Given the description of an element on the screen output the (x, y) to click on. 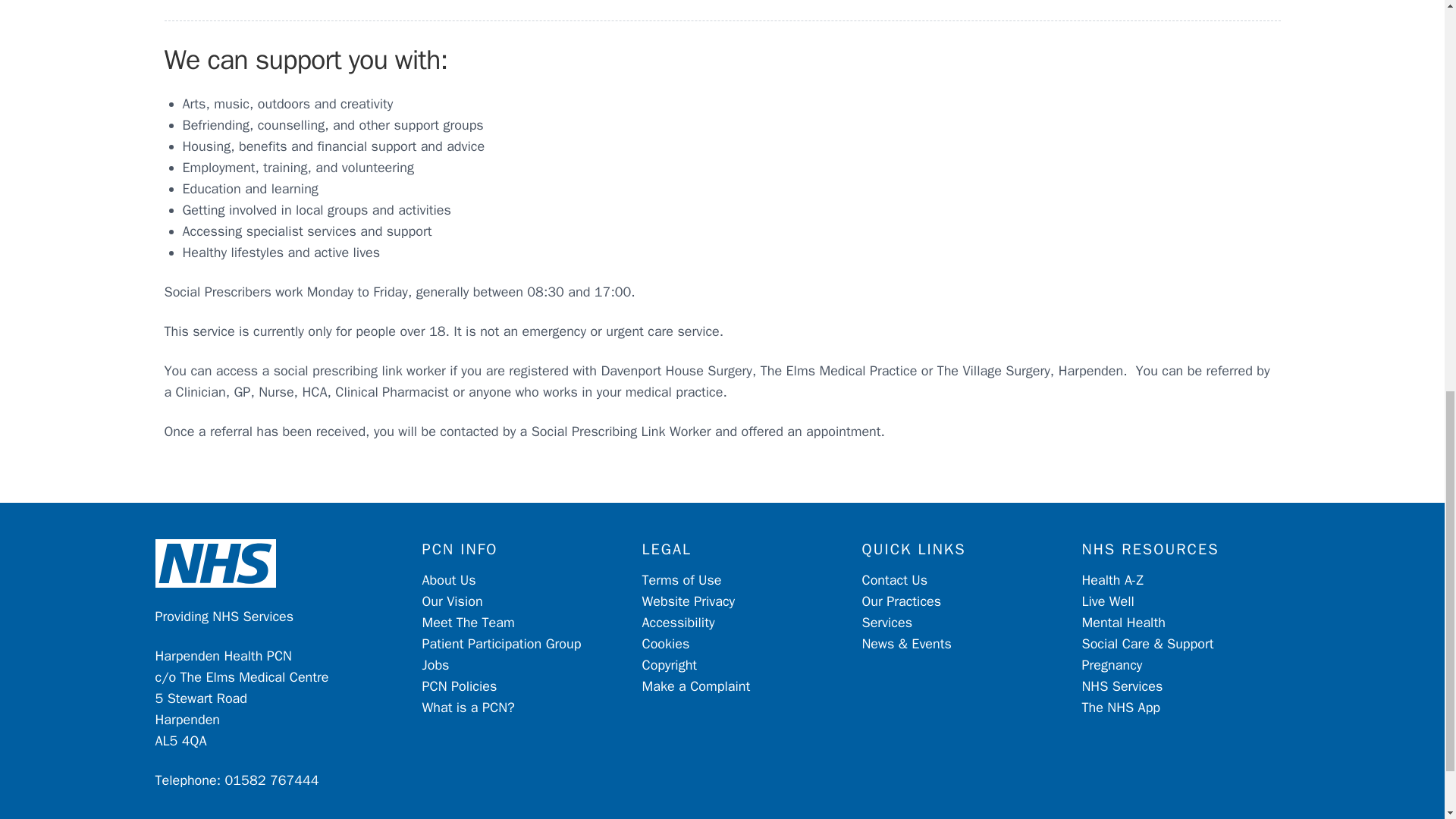
Health A-Z (1111, 579)
Pregnancy (1111, 664)
Our Practices (900, 600)
Mental Health (1122, 622)
About Us (449, 579)
Our Vision (451, 600)
Make a Complaint (695, 686)
Meet The Team (467, 622)
Accessibility (678, 622)
Terms of Use (681, 579)
